Given the description of an element on the screen output the (x, y) to click on. 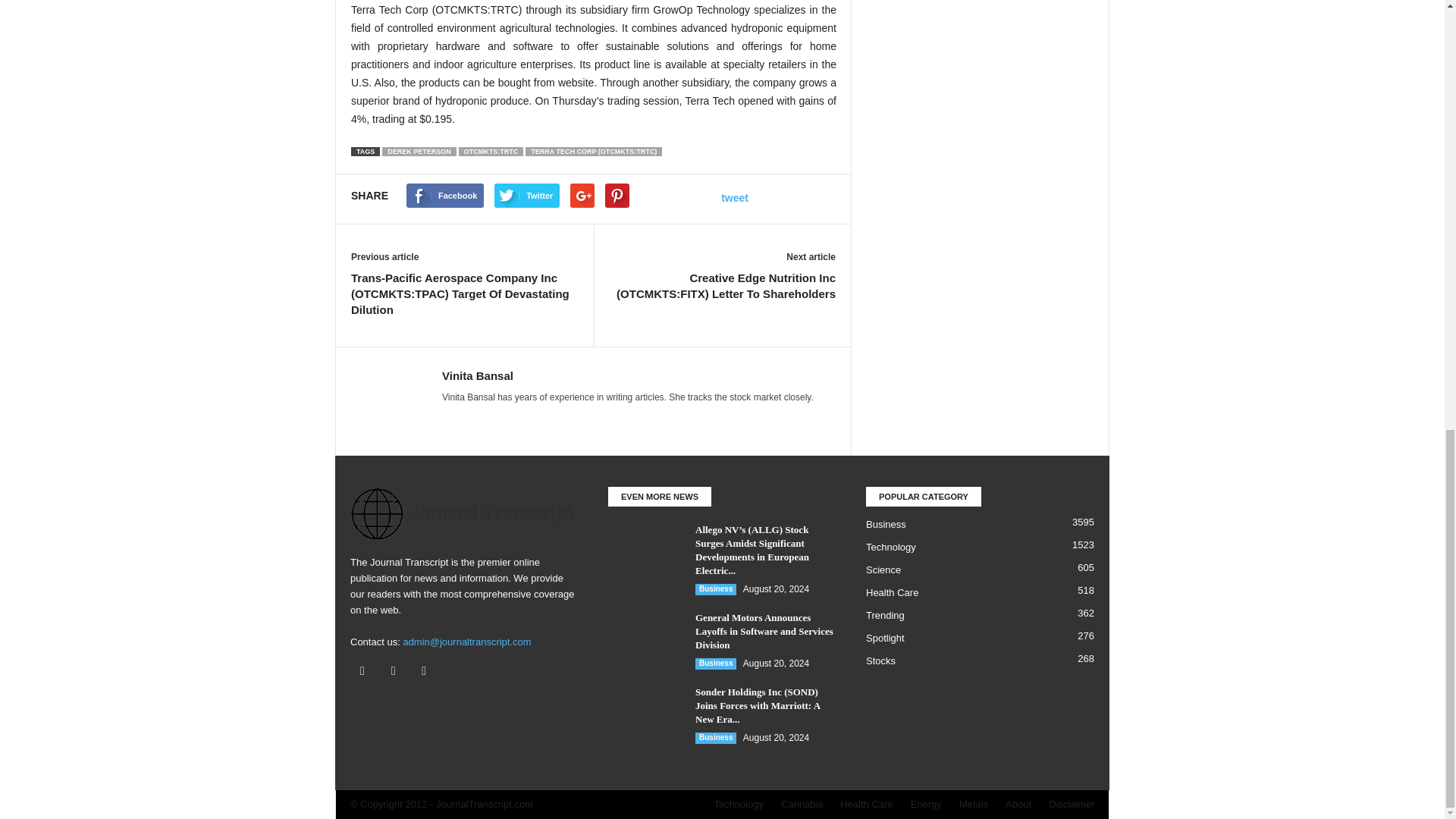
Facebook (365, 671)
Youtube (425, 671)
Twitter (396, 671)
